Given the description of an element on the screen output the (x, y) to click on. 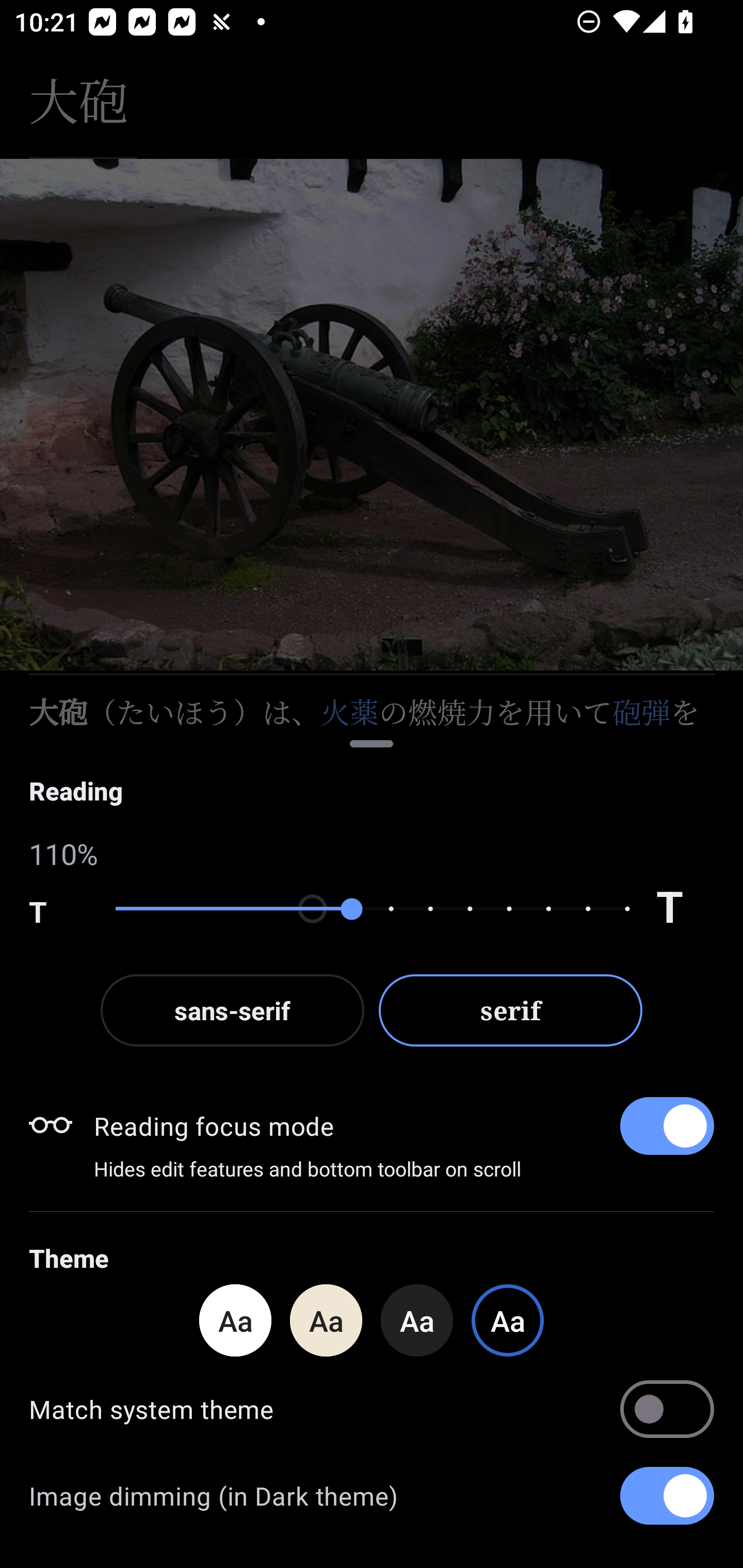
T Decrease text size (57, 909)
T Increase text size (685, 909)
sans-serif (232, 1010)
serif (510, 1010)
Reading focus mode (403, 1125)
Aa (235, 1320)
Aa (325, 1320)
Aa (416, 1320)
Match system theme (371, 1408)
Image dimming (in Dark theme) (371, 1495)
